Given the description of an element on the screen output the (x, y) to click on. 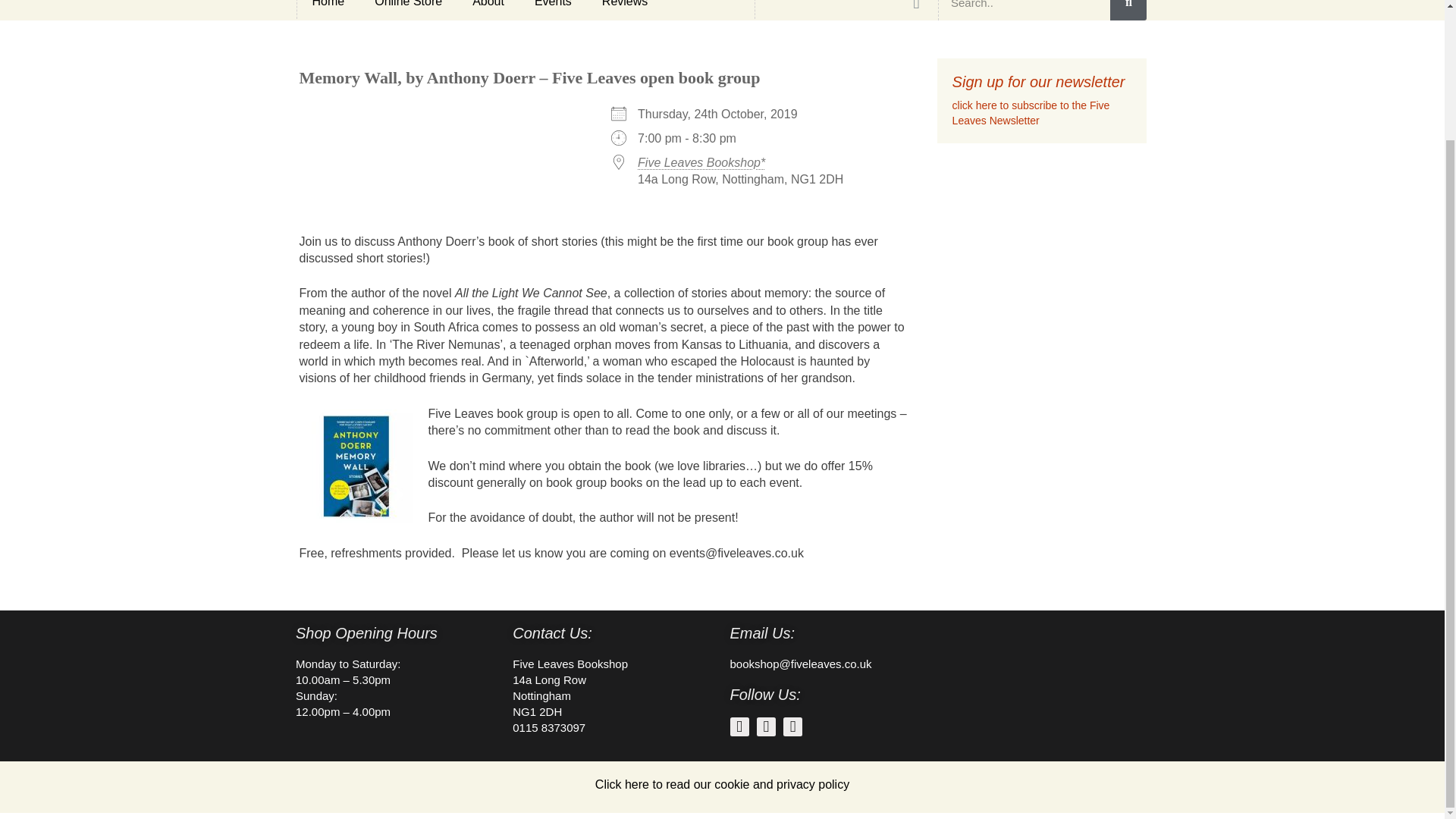
Click here to read our cookie and privacy policy (721, 784)
click here to subscribe to the Five Leaves Newsletter (1030, 112)
About (488, 9)
Reviews (624, 9)
Home (328, 9)
Search (1128, 10)
Online Store (408, 9)
Search (1024, 10)
Events (552, 9)
Sign up for our newsletter (1038, 81)
